Given the description of an element on the screen output the (x, y) to click on. 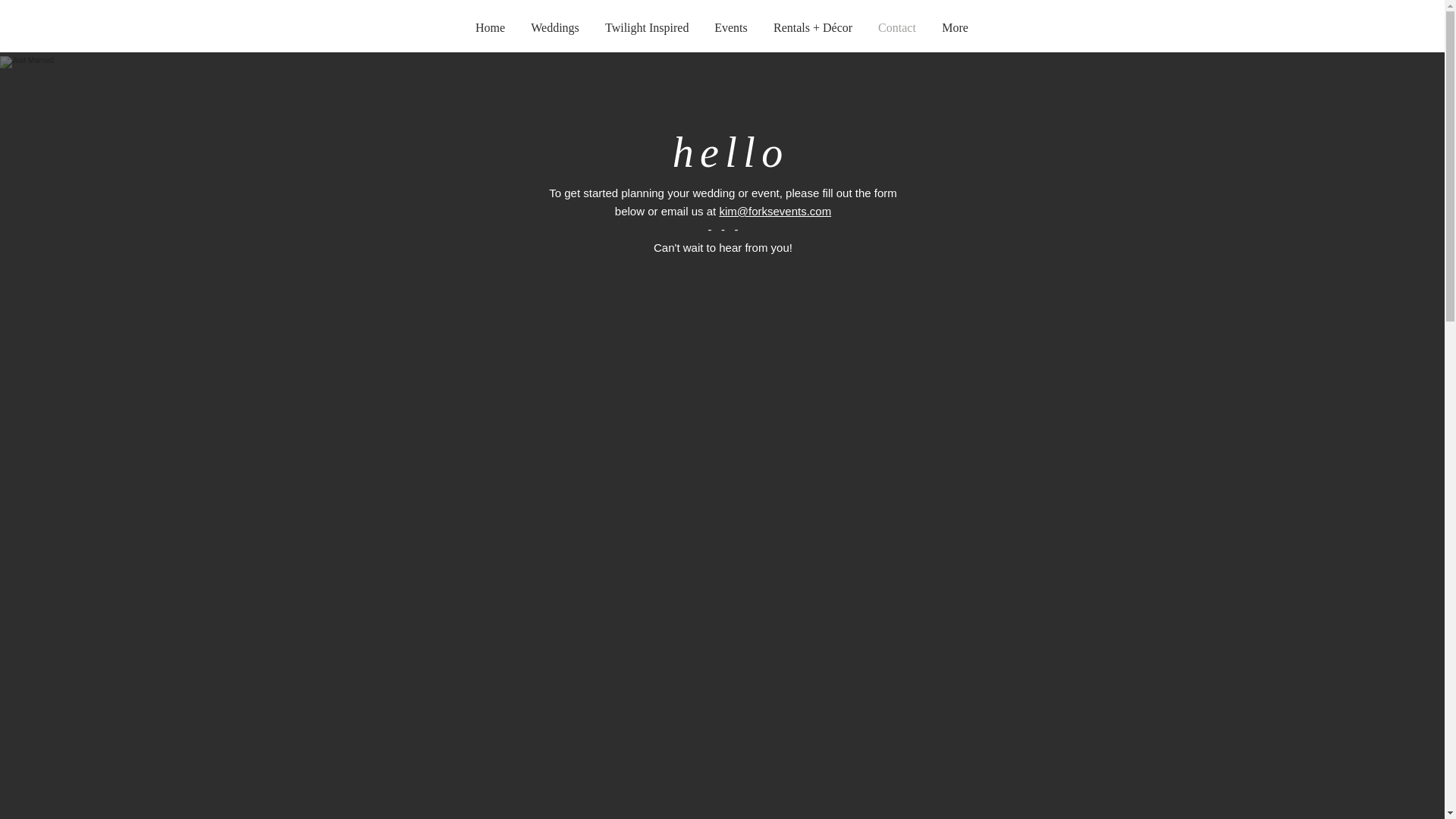
Home (490, 27)
Weddings (555, 27)
Contact (896, 27)
Events (730, 27)
Twilight Inspired (646, 27)
